Given the description of an element on the screen output the (x, y) to click on. 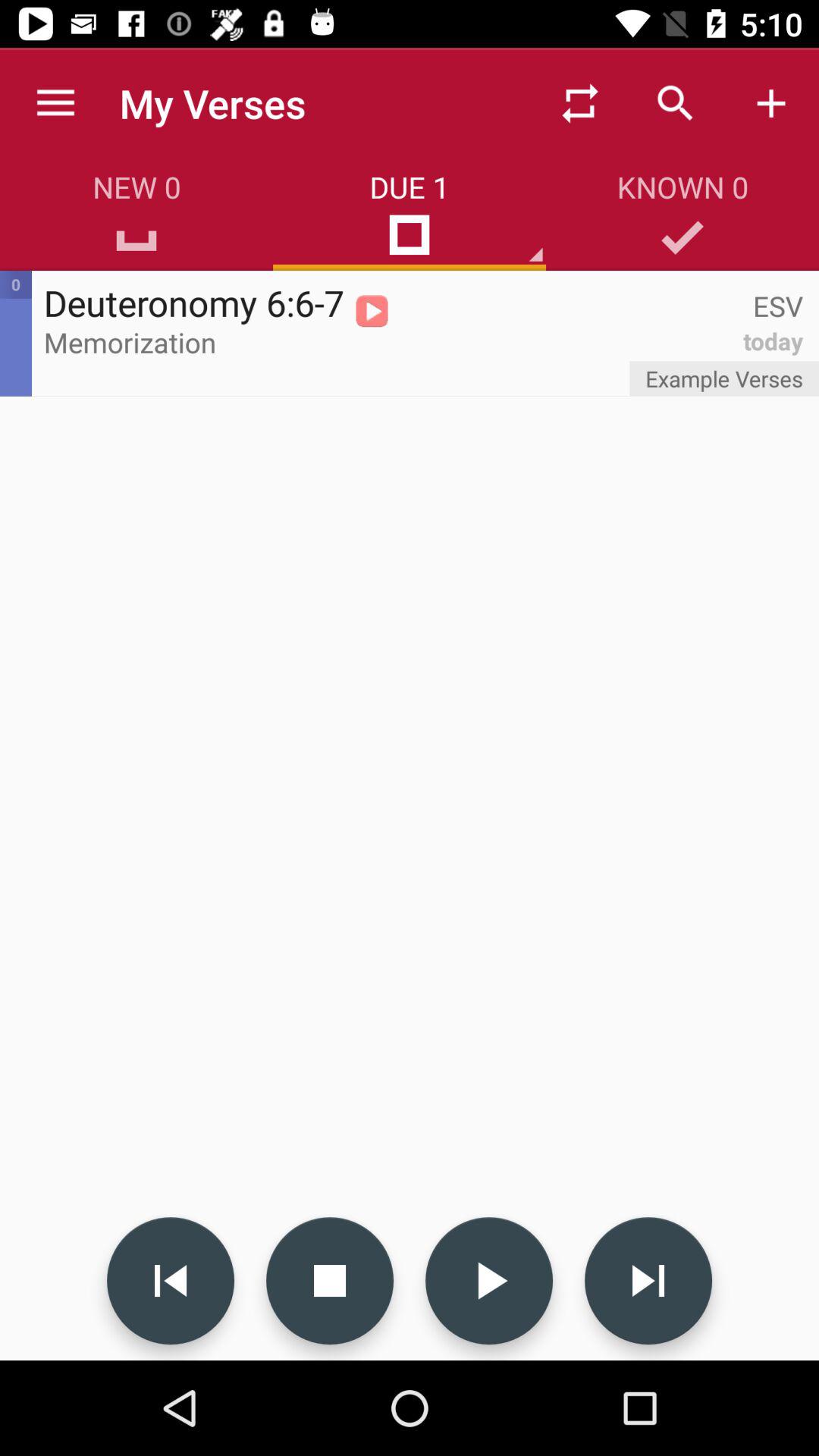
press icon at the bottom left corner (170, 1280)
